Given the description of an element on the screen output the (x, y) to click on. 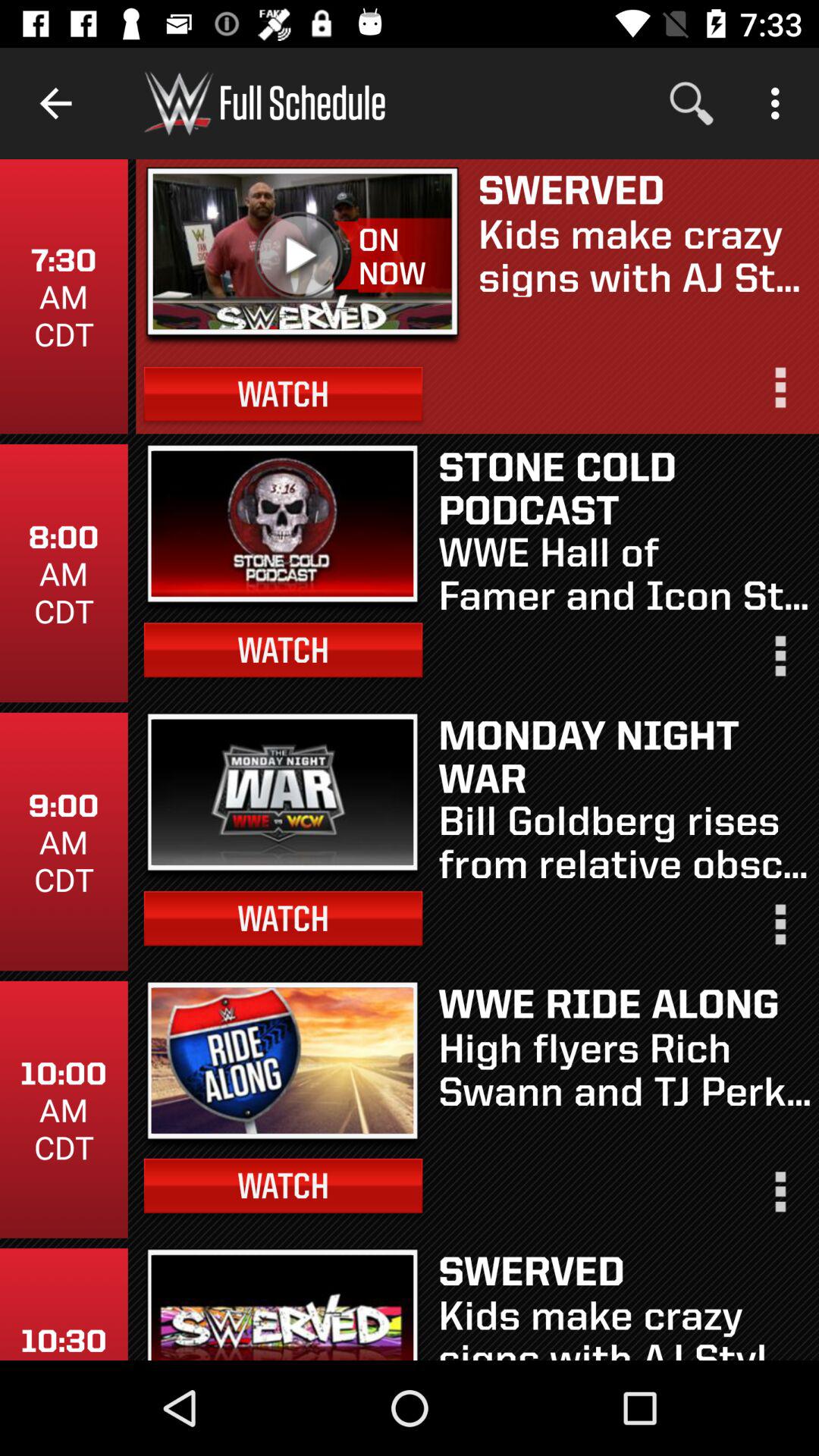
press the wwe hall of item (624, 571)
